Given the description of an element on the screen output the (x, y) to click on. 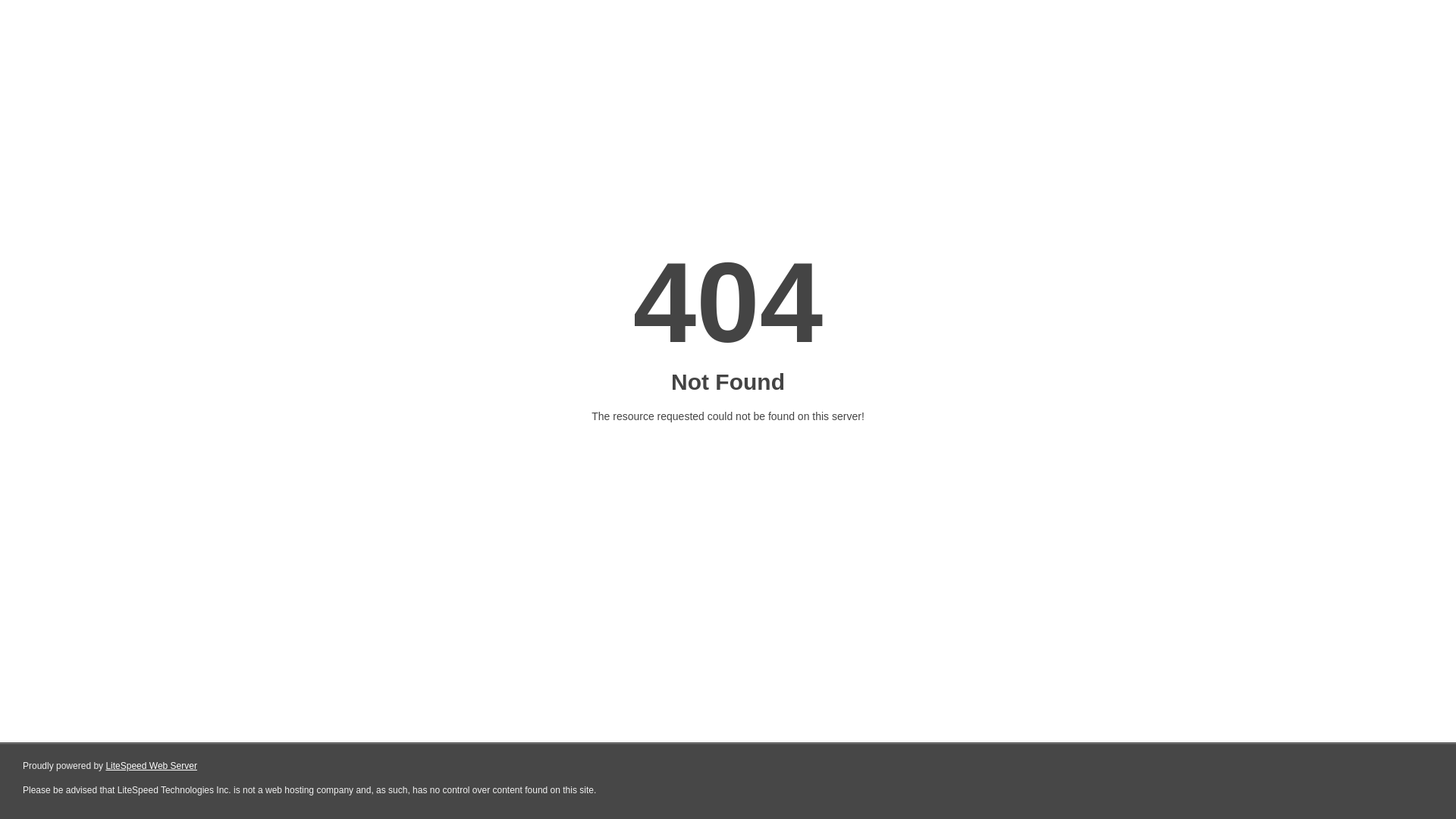
LiteSpeed Web Server Element type: text (151, 765)
